Given the description of an element on the screen output the (x, y) to click on. 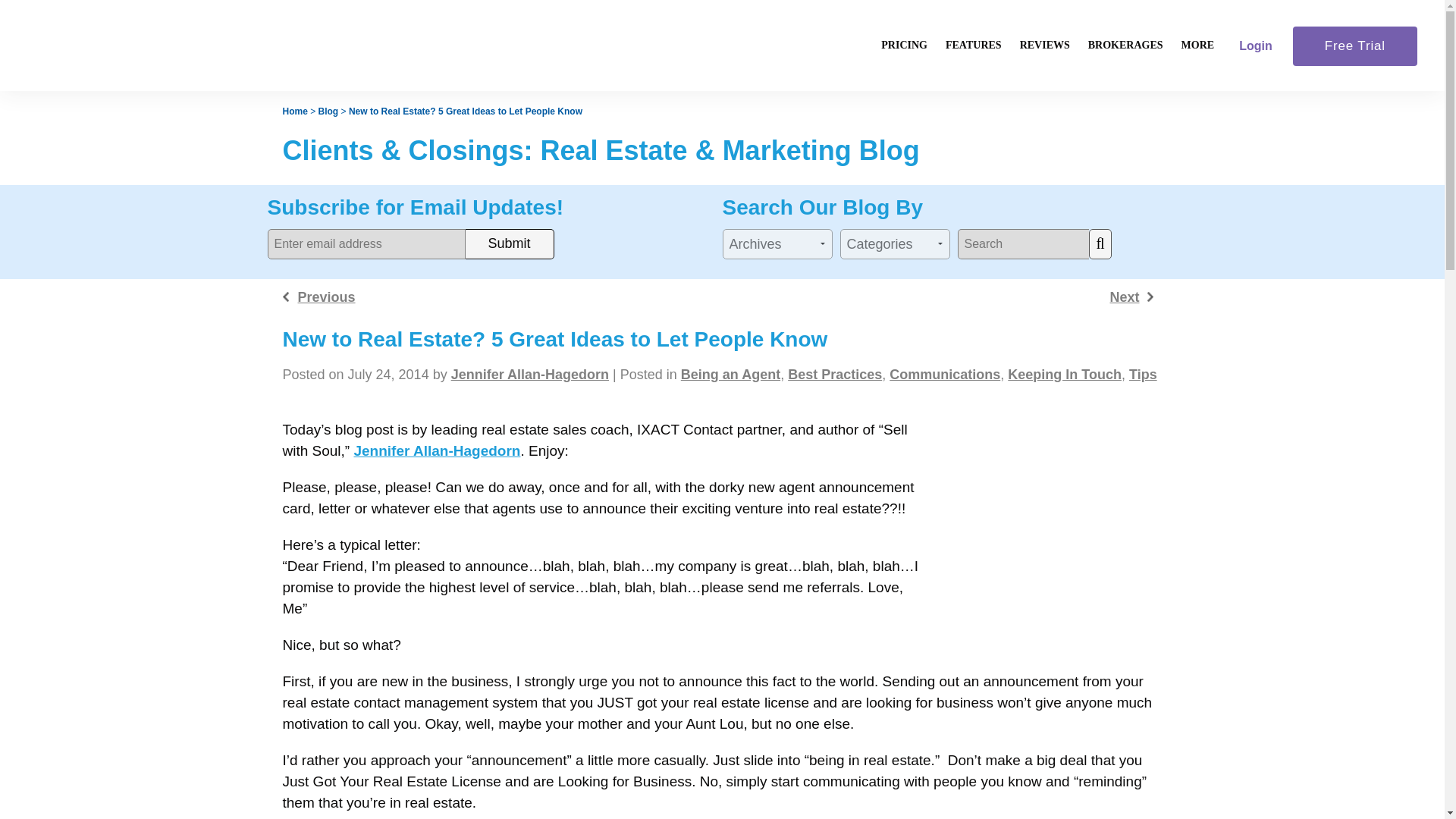
Recruiting CRM (972, 301)
Social Stream (972, 176)
Enter email address (365, 244)
Resources (1197, 126)
Real Estate CRM (972, 101)
Teams (972, 226)
Free Trial (1348, 45)
Brokerage Program (1124, 101)
Affiliate Program (1197, 176)
Email Marketing (972, 126)
